Given the description of an element on the screen output the (x, y) to click on. 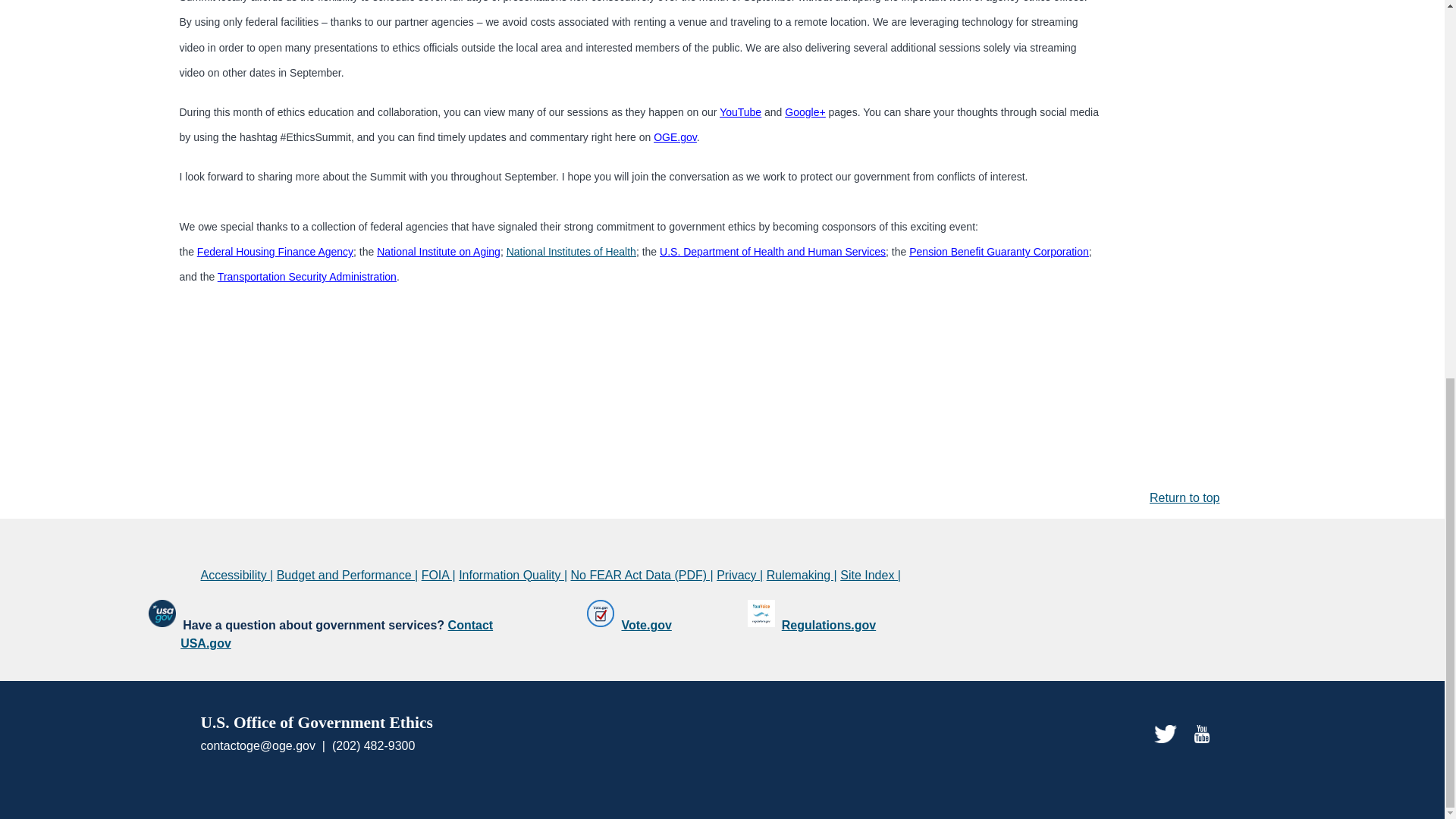
Regulations.gov (828, 625)
OGE.gov (675, 137)
National Institutes of Health (571, 251)
Pension Benefit Guaranty Corporation (998, 251)
National Institute on Aging (438, 251)
Vote.gov (646, 625)
YouTube (740, 111)
Federal Housing Finance Agency (274, 251)
Contact USA.gov (336, 634)
Transportation Security Administration (306, 276)
